Given the description of an element on the screen output the (x, y) to click on. 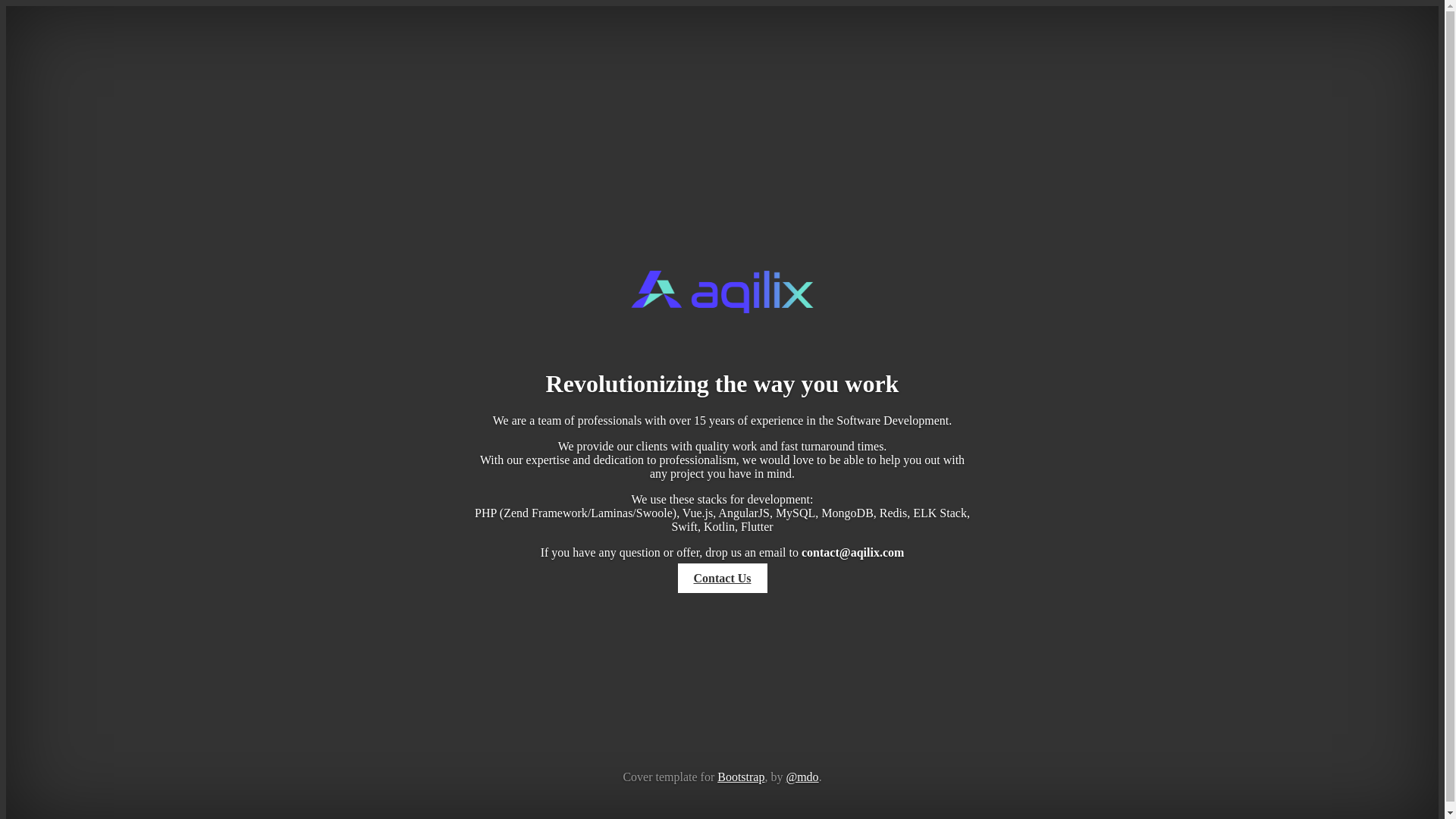
Bootstrap (740, 776)
Contact Us (722, 577)
